Given the description of an element on the screen output the (x, y) to click on. 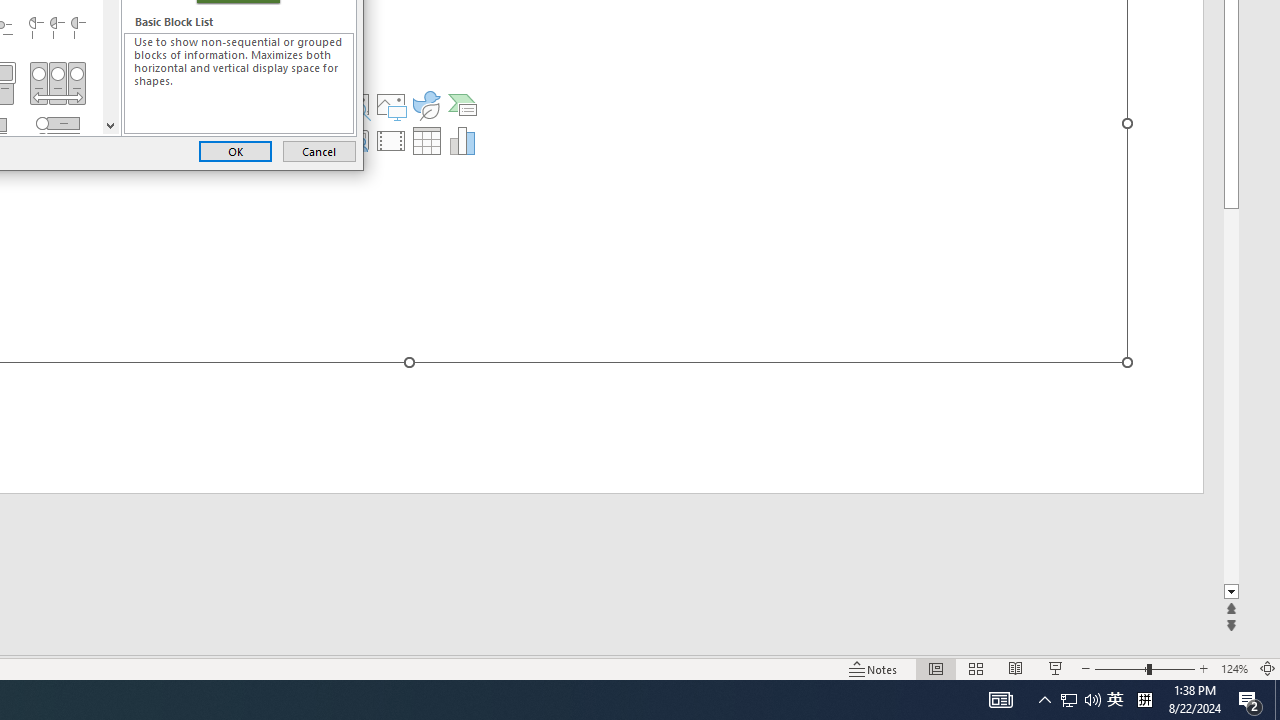
Zoom In (1204, 668)
Zoom Out (1120, 668)
Continuous Picture List (57, 84)
Class: NetUITextbox (239, 83)
Notification Chevron (1044, 699)
Notes  (874, 668)
Q2790: 100% (1092, 699)
Slide Sorter (975, 668)
OK (235, 150)
Zoom 124% (1234, 668)
Insert Table (426, 140)
Pictures (391, 104)
Line down (110, 124)
Cancel (319, 150)
Action Center, 2 new notifications (1250, 699)
